Given the description of an element on the screen output the (x, y) to click on. 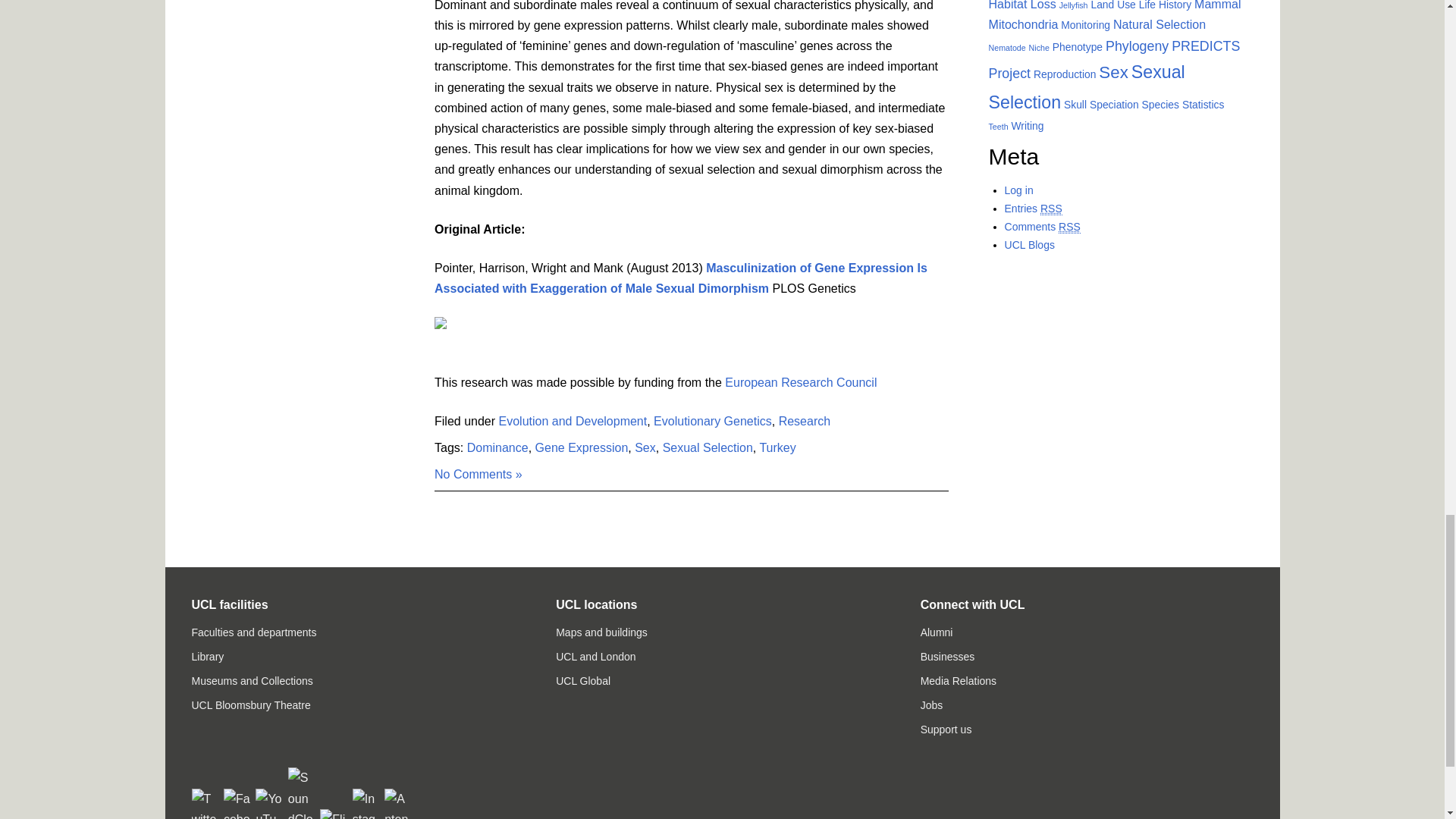
Really Simple Syndication (1069, 226)
Dominance (497, 447)
European Research Council (800, 382)
Sex (645, 447)
The latest comments to all posts in RSS (1042, 226)
Sexual Selection (707, 447)
Turkey (776, 447)
Gene Expression (581, 447)
Evolution and Development (573, 420)
Evolutionary Genetics (712, 420)
Research (803, 420)
Syndicate this site using RSS 2.0 (1033, 208)
Powered by UCL Blogs (1029, 244)
Really Simple Syndication (1051, 208)
